Given the description of an element on the screen output the (x, y) to click on. 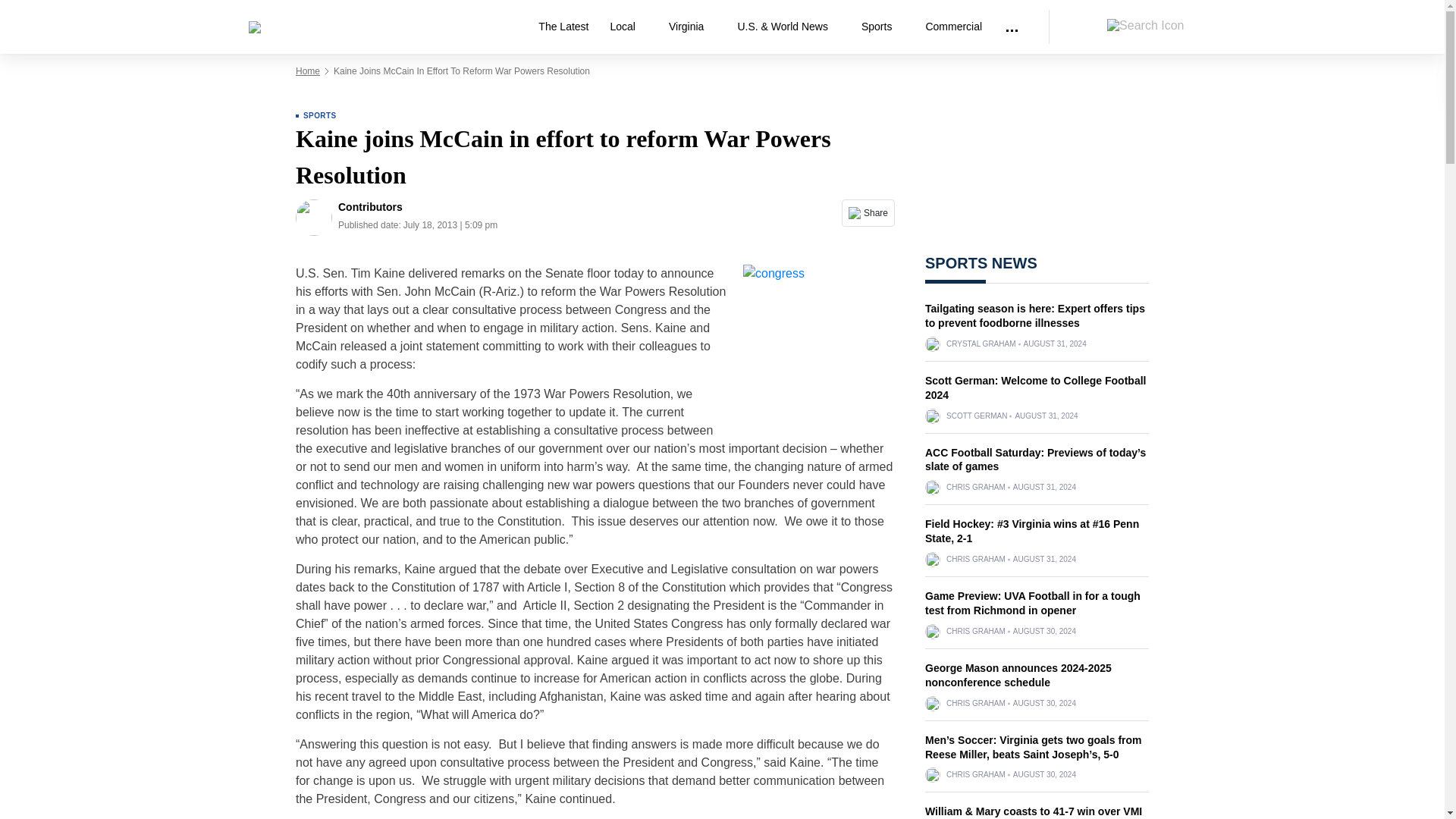
Commercial (953, 27)
The Latest (562, 27)
Sports (882, 27)
Local (628, 27)
Virginia (692, 27)
